Given the description of an element on the screen output the (x, y) to click on. 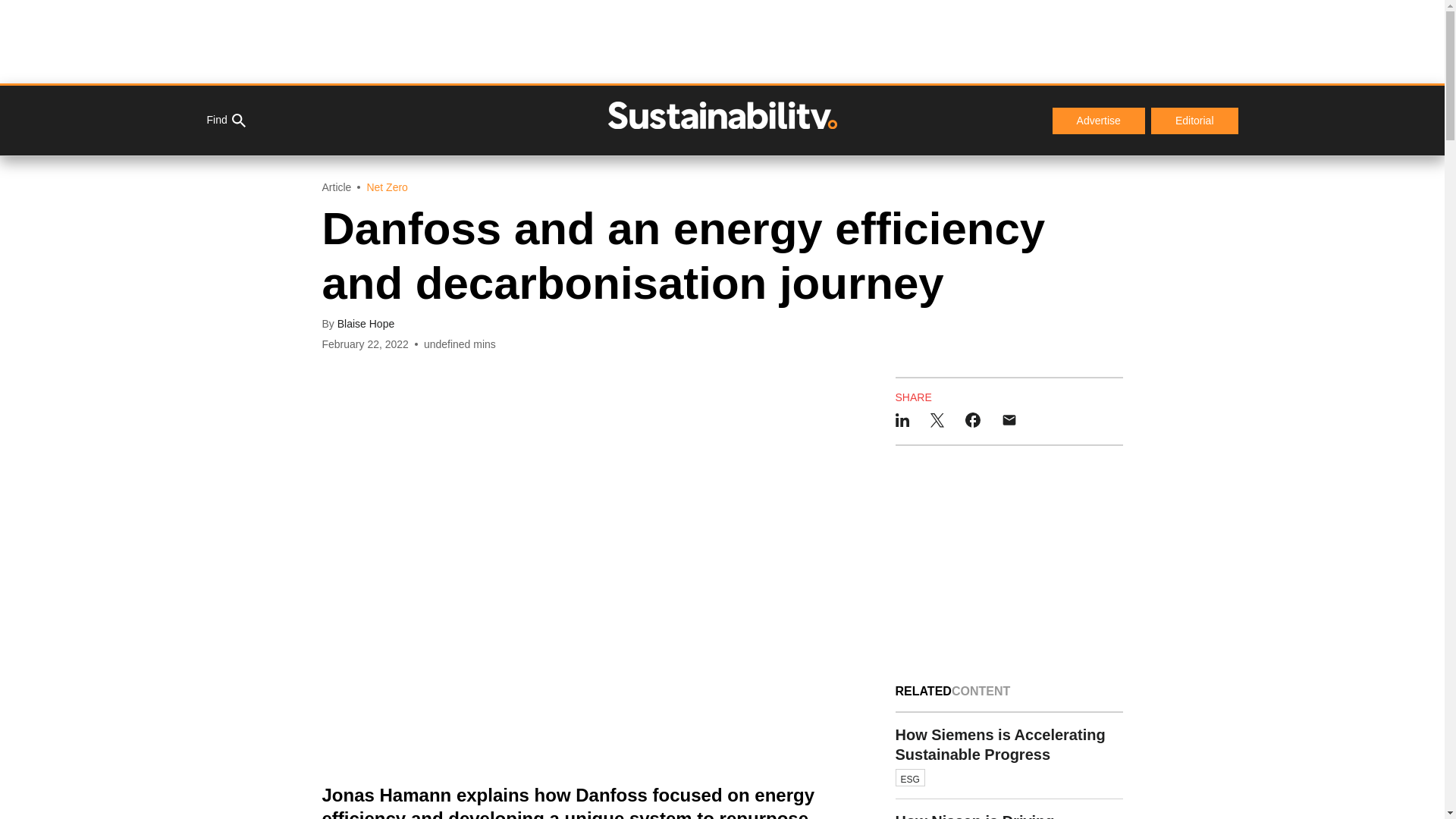
Find (225, 120)
Blaise Hope (365, 323)
Advertise (1098, 121)
Editorial (1008, 756)
